Given the description of an element on the screen output the (x, y) to click on. 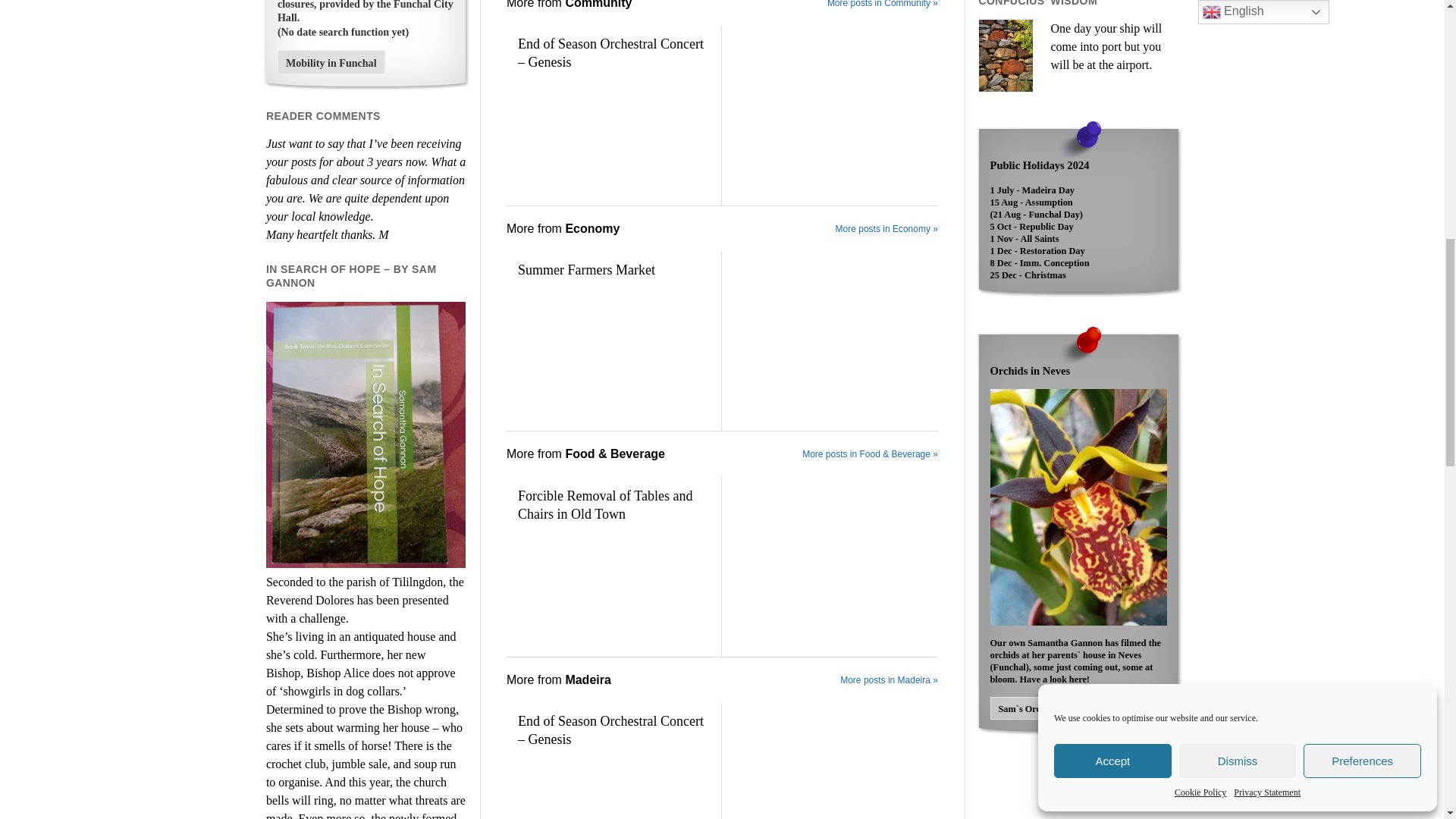
Mobility in Funchal (331, 61)
